Given the description of an element on the screen output the (x, y) to click on. 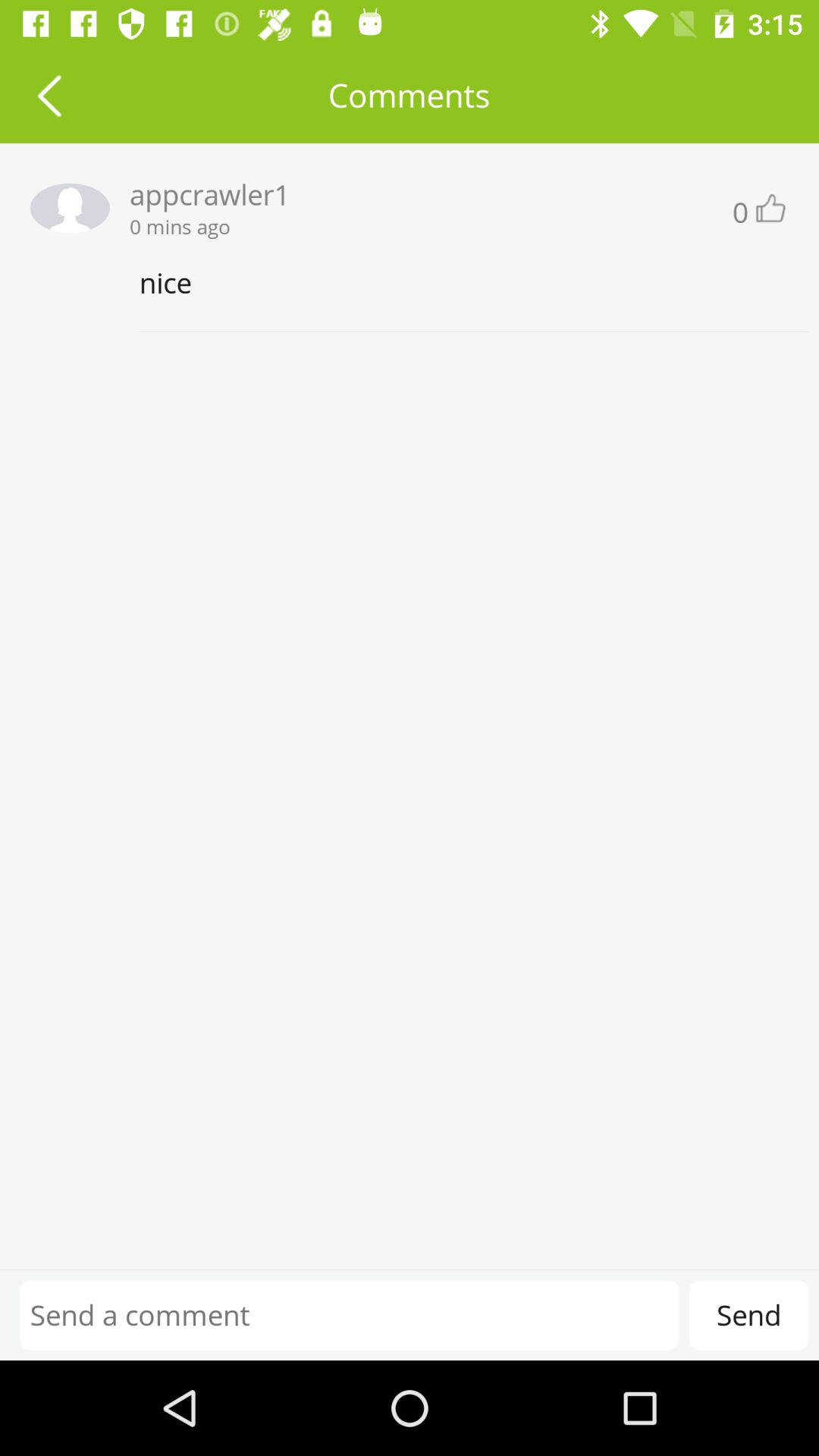
turn on the icon next to the comments (48, 95)
